Given the description of an element on the screen output the (x, y) to click on. 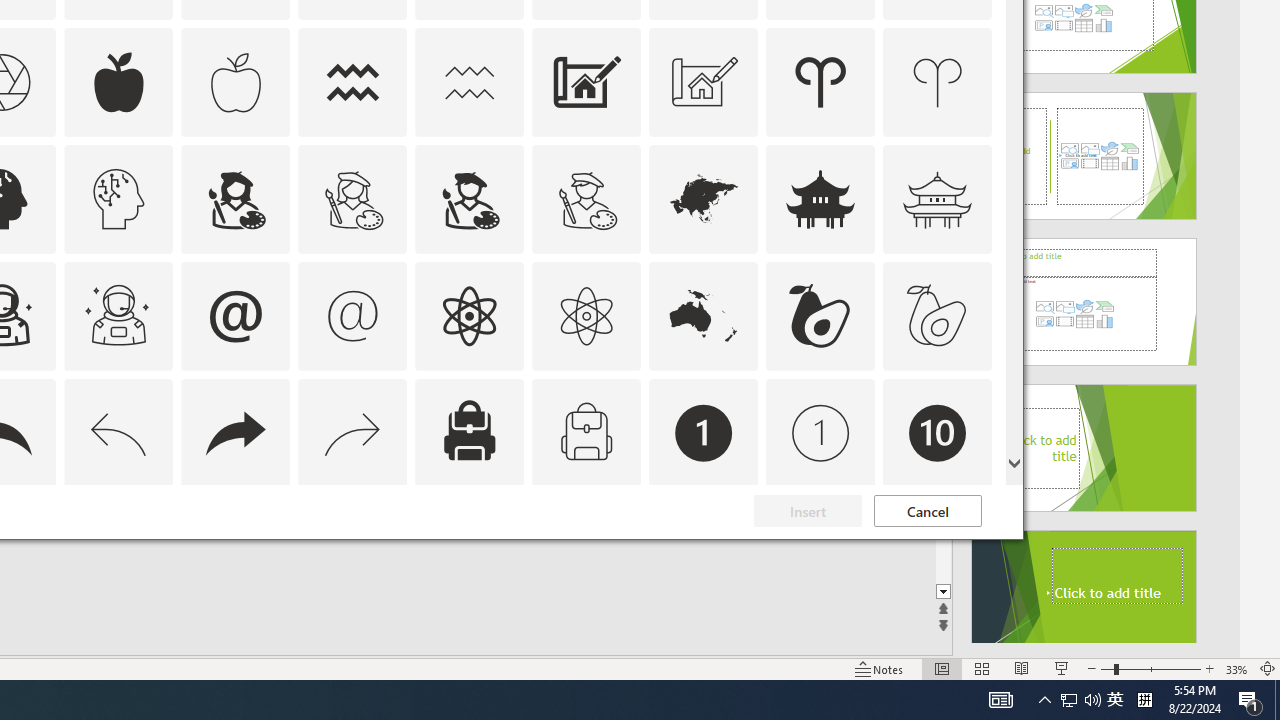
AutomationID: Icons_Atom_M (586, 316)
AutomationID: Icons_ArtistFemale (235, 198)
AutomationID: Icons_Badge8 (1044, 699)
AutomationID: Icons_Apple_M (586, 550)
AutomationID: Icons_Badge6_M (235, 82)
AutomationID: Icons_Badge1_M (235, 550)
AutomationID: Icons_Apple (820, 432)
